Given the description of an element on the screen output the (x, y) to click on. 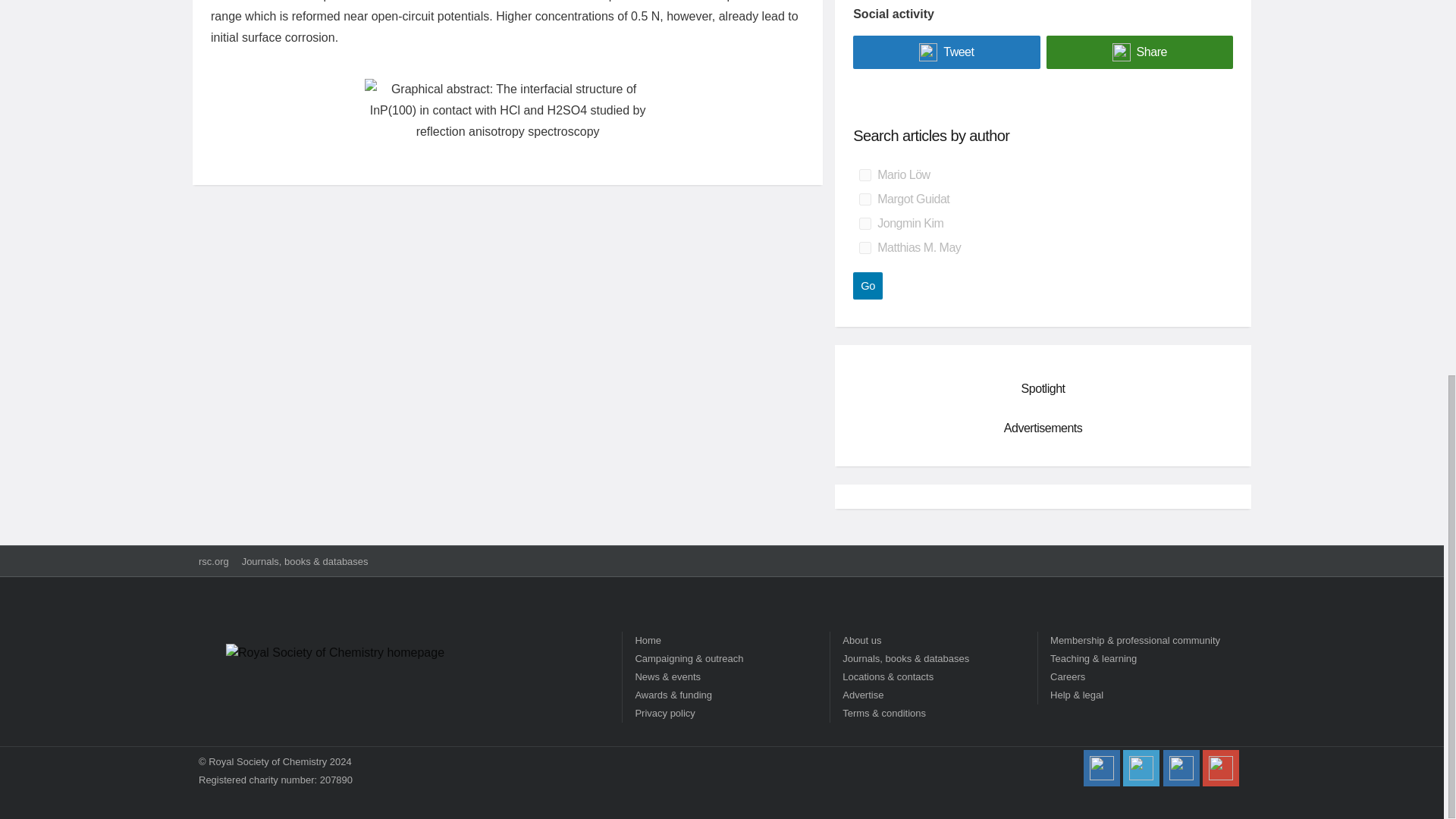
on (864, 174)
on (864, 223)
Go (867, 285)
Go (867, 285)
on (864, 247)
on (864, 199)
